Given the description of an element on the screen output the (x, y) to click on. 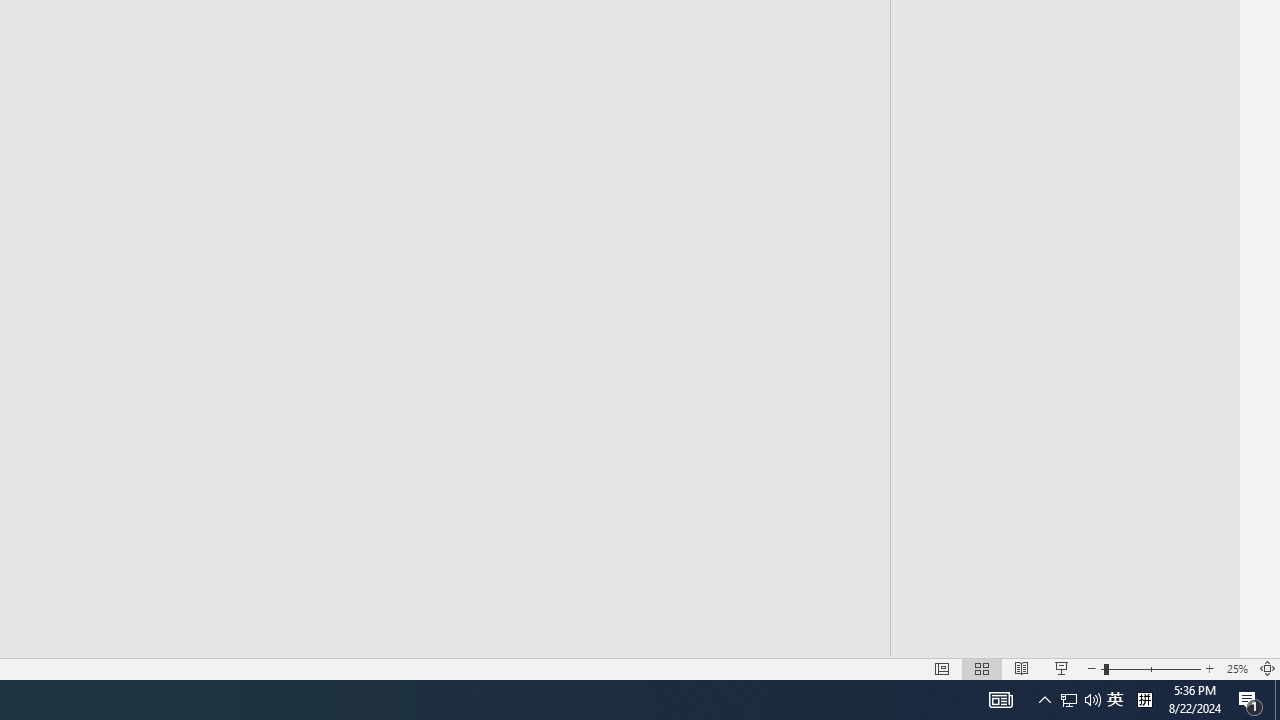
Zoom 25% (1236, 668)
